Given the description of an element on the screen output the (x, y) to click on. 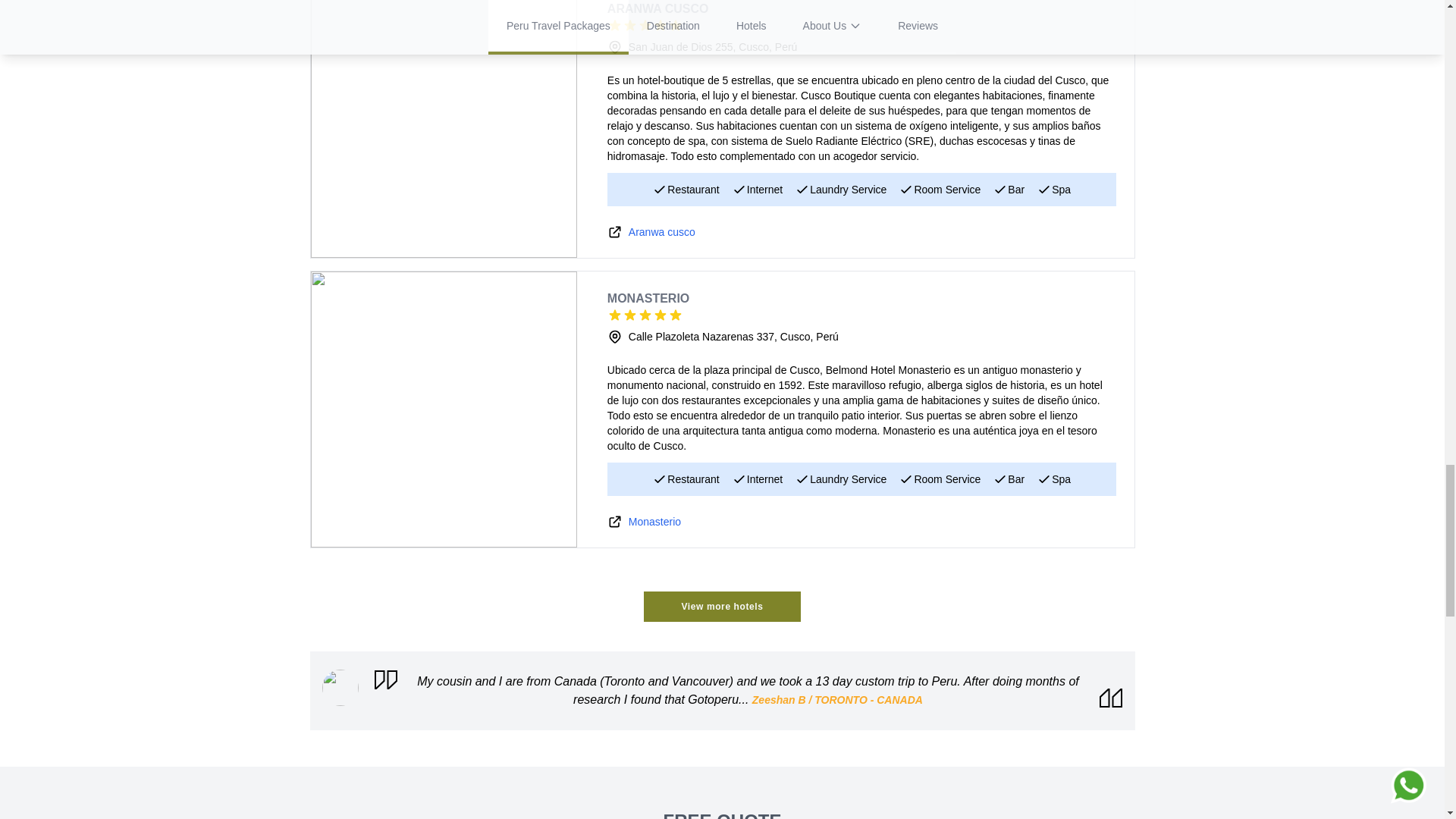
View more hotels (721, 606)
Aranwa cusco (661, 231)
Monasterio (654, 521)
